Given the description of an element on the screen output the (x, y) to click on. 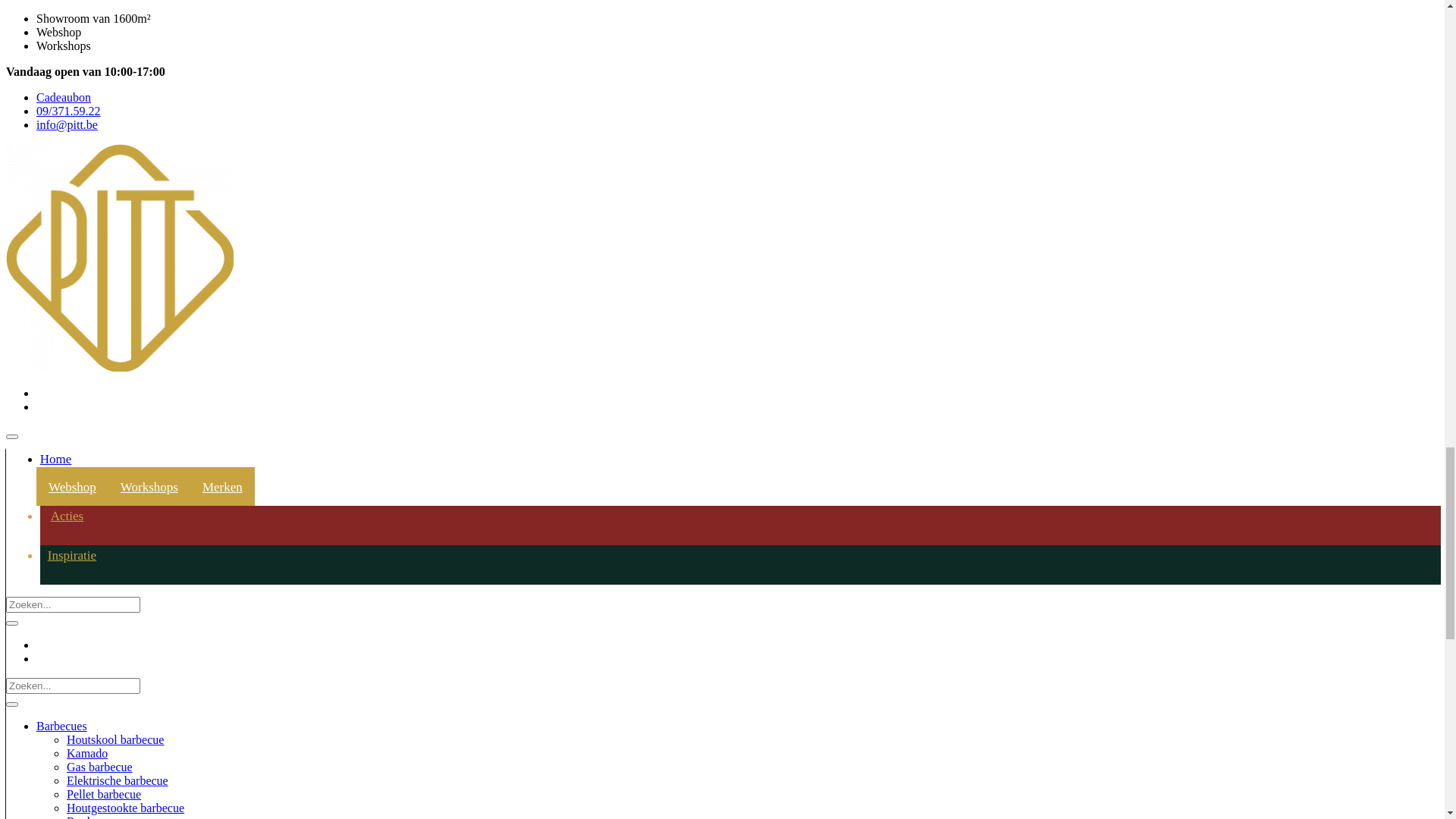
Home Element type: text (20, 157)
Over ons Element type: text (58, 686)
Algemene voorwaarden Element type: text (94, 740)
Terug naar home Element type: text (46, 272)
Retourbeleid Element type: text (67, 768)
Betaling en verzending Element type: text (92, 754)
Privacybeleid Element type: text (69, 727)
Home Element type: text (50, 672)
Contact Element type: text (55, 699)
